Given the description of an element on the screen output the (x, y) to click on. 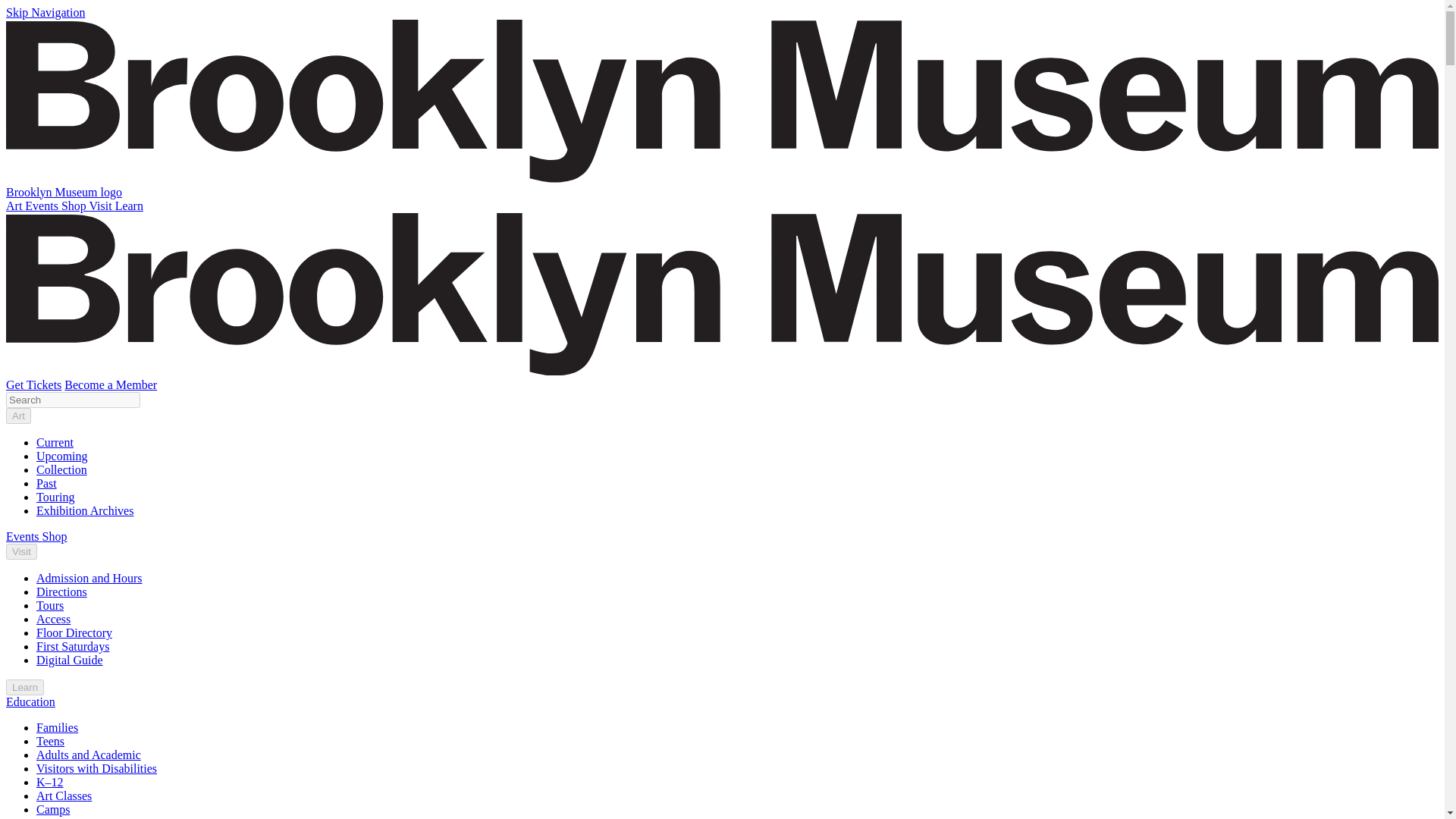
Education (30, 701)
Learn (128, 205)
Digital Guide (69, 659)
Visit (21, 551)
Events (42, 205)
Teens (50, 740)
Shop (54, 535)
Get Tickets (33, 384)
Camps (52, 809)
Tours (50, 604)
